Given the description of an element on the screen output the (x, y) to click on. 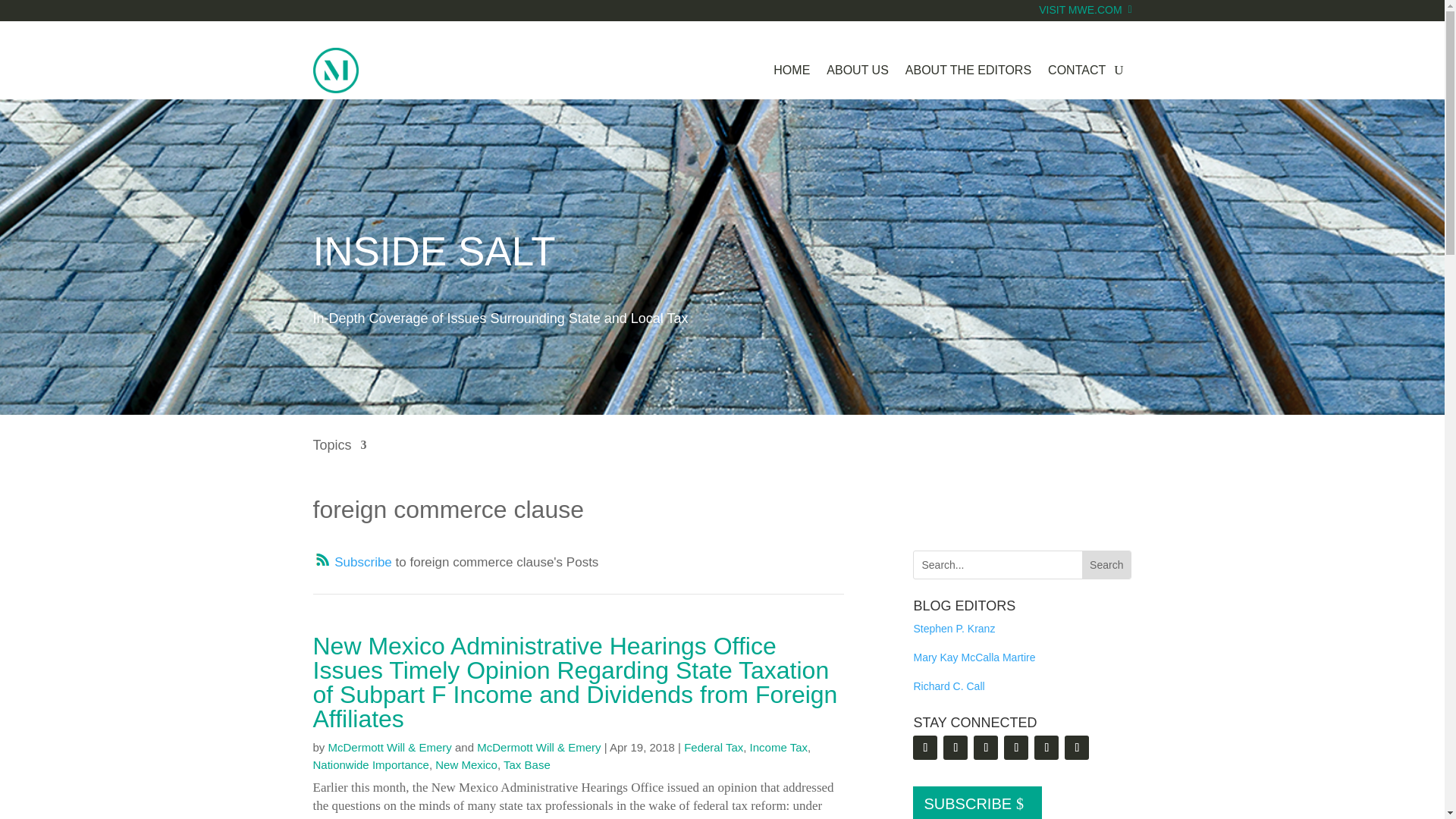
Search (1106, 564)
Follow on RSS (352, 562)
Topics (339, 455)
Search (1106, 564)
ABOUT US (857, 70)
VISIT MWE.COM   (1085, 20)
CONTACT (1076, 70)
ABOUT THE EDITORS (967, 70)
